Given the description of an element on the screen output the (x, y) to click on. 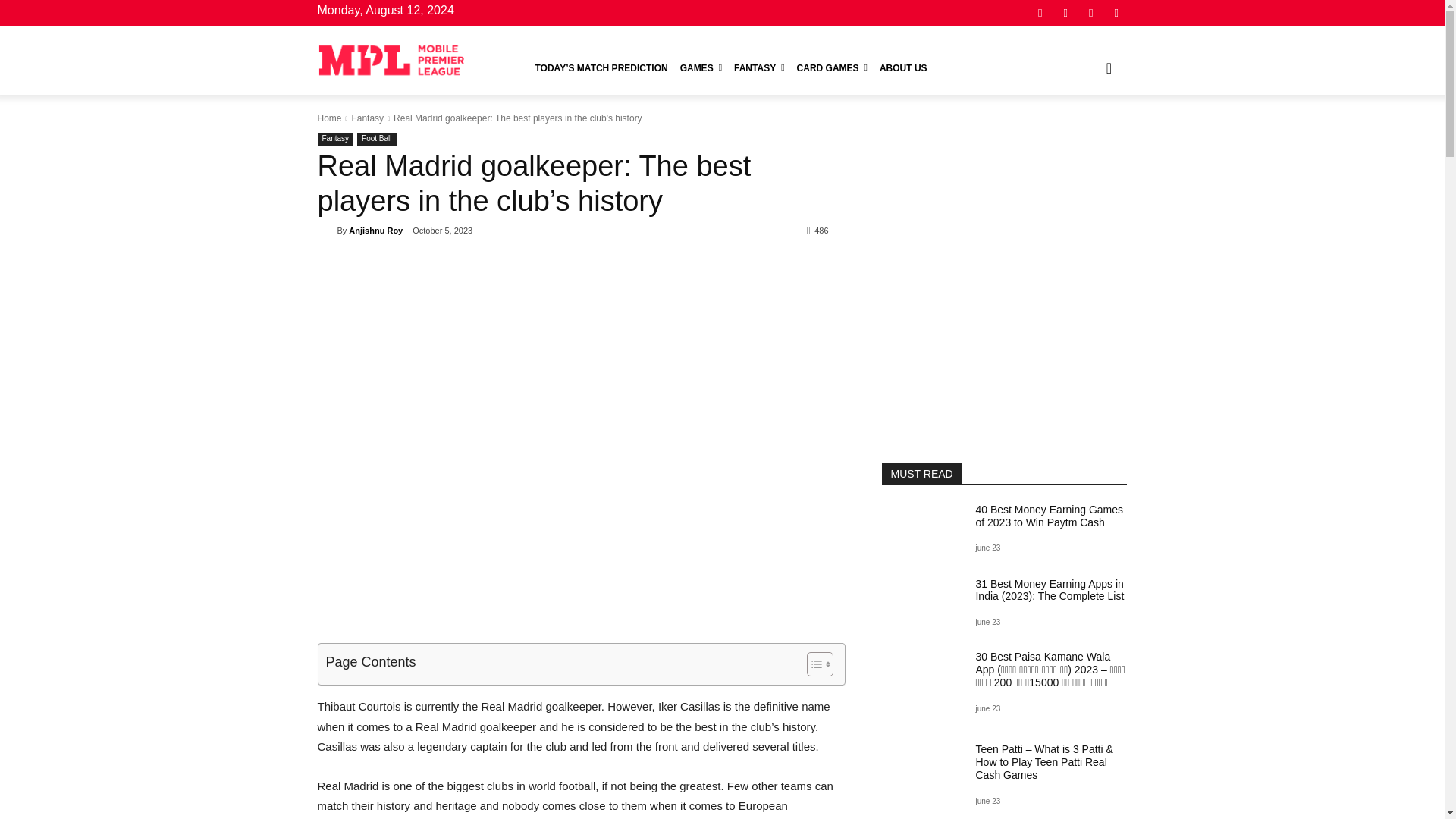
Twitter (1091, 12)
Youtube (1115, 12)
Instagram (1065, 12)
Facebook (1040, 12)
GAMES (701, 67)
